Given the description of an element on the screen output the (x, y) to click on. 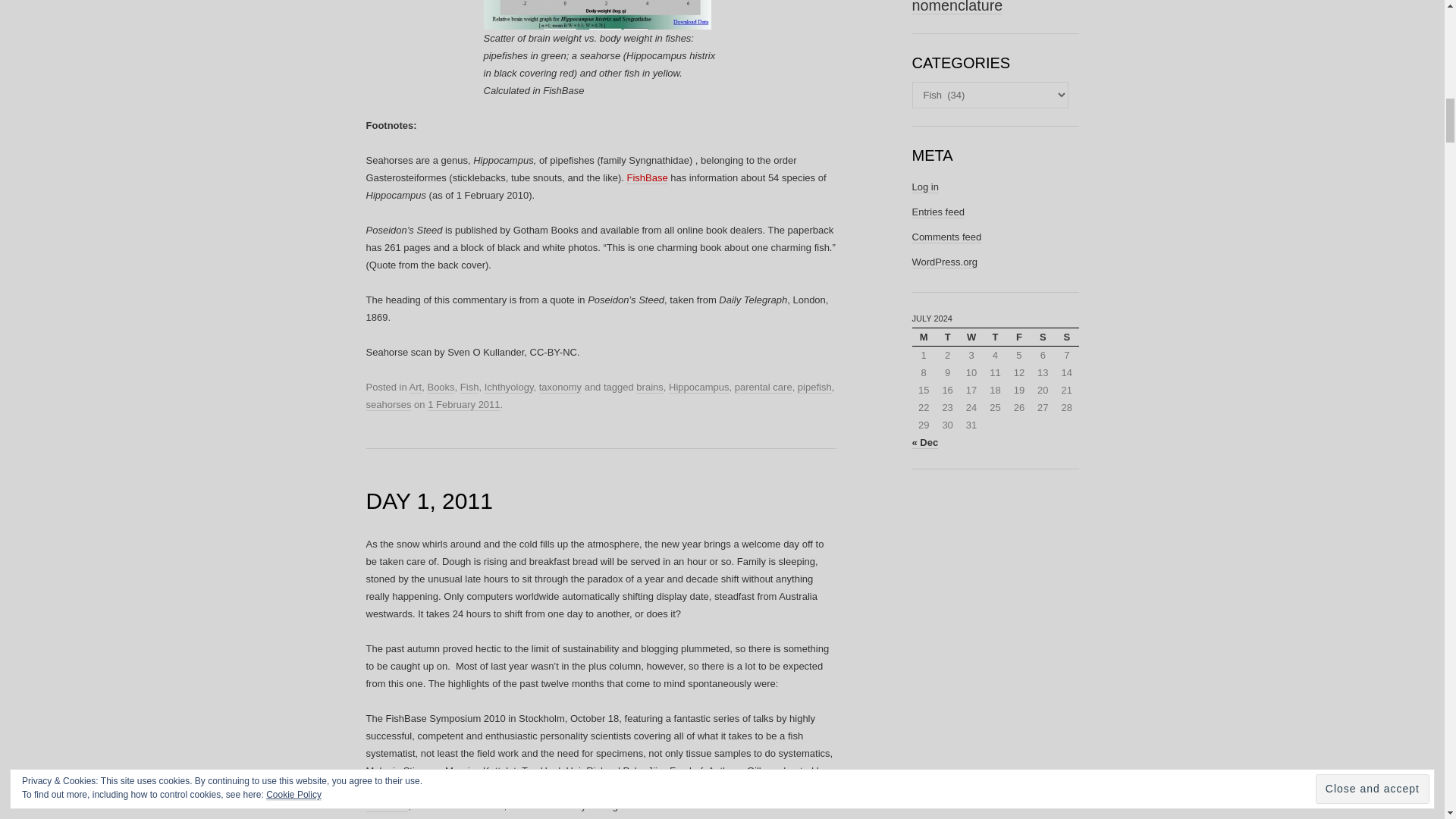
brains (649, 387)
DAY 1, 2011 (428, 500)
Books (440, 387)
report to download (598, 797)
Ichthyology (509, 387)
pipefish (814, 387)
parental care (763, 387)
Hippocampus (698, 387)
23:28 (463, 404)
pipebrains (597, 14)
taxonomy (559, 387)
PDF report (598, 797)
seahorses (387, 404)
1 February 2011 (463, 404)
Art (415, 387)
